Given the description of an element on the screen output the (x, y) to click on. 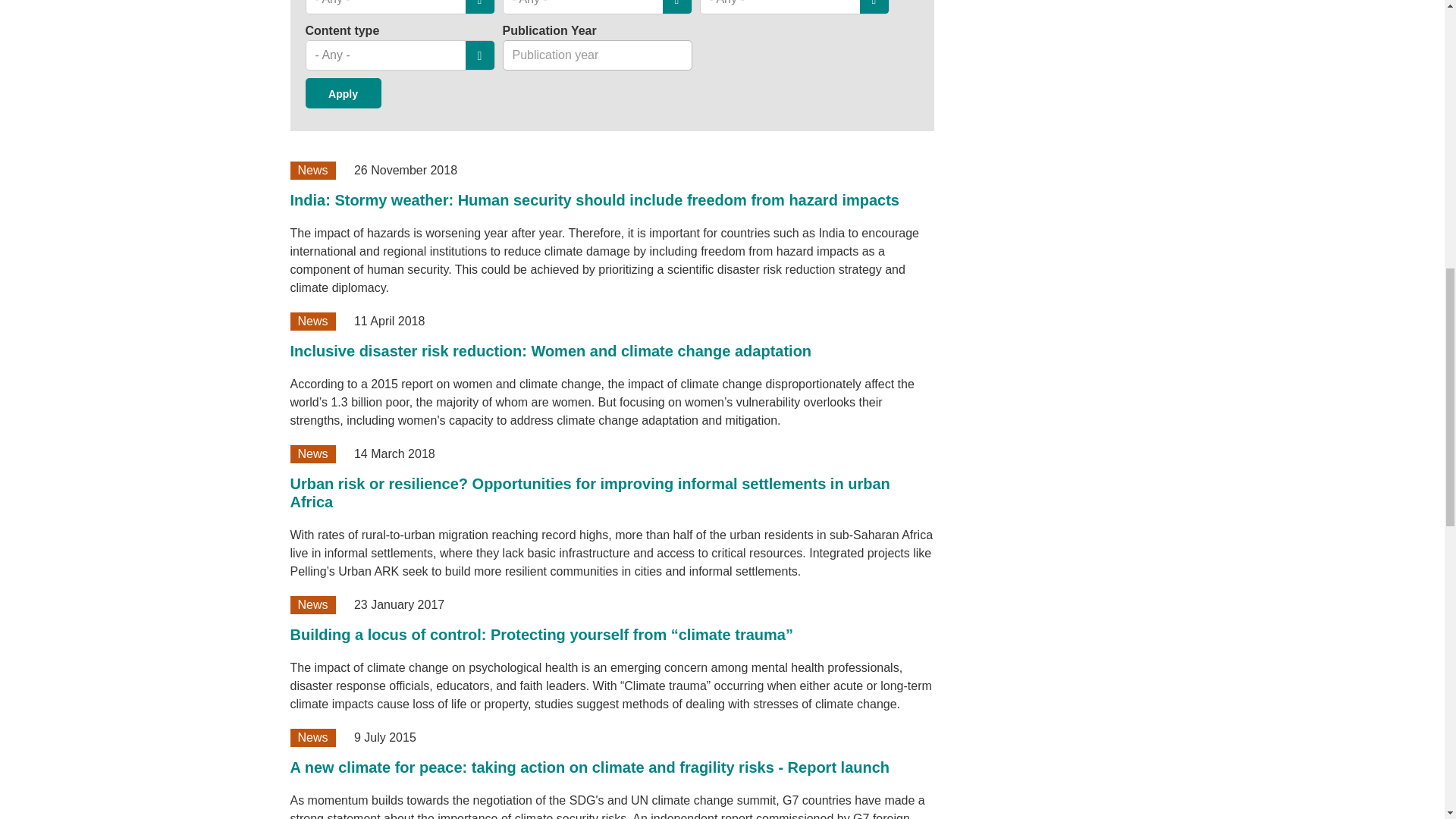
Apply (342, 92)
